Given the description of an element on the screen output the (x, y) to click on. 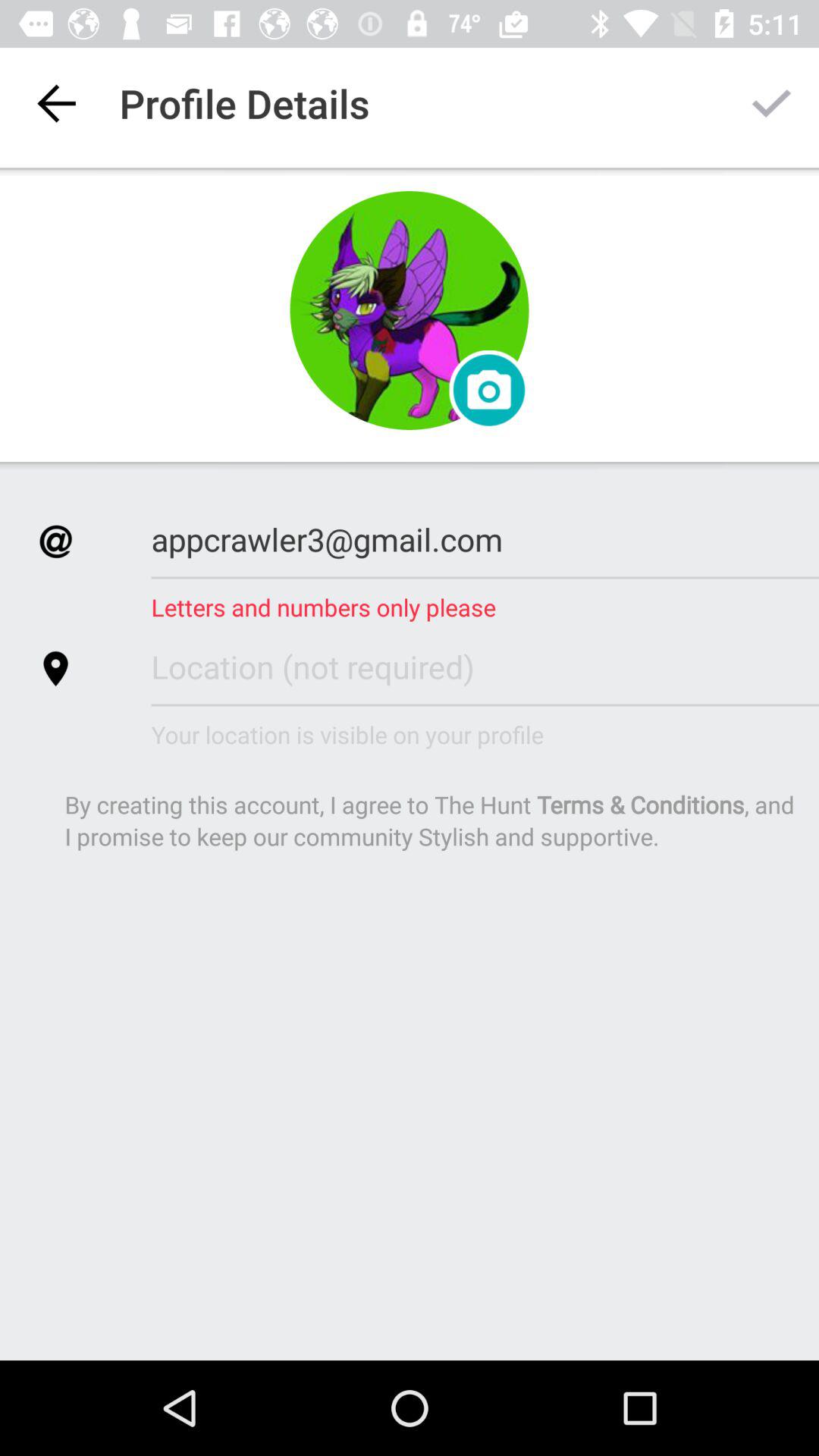
edit profile photo (488, 389)
